Given the description of an element on the screen output the (x, y) to click on. 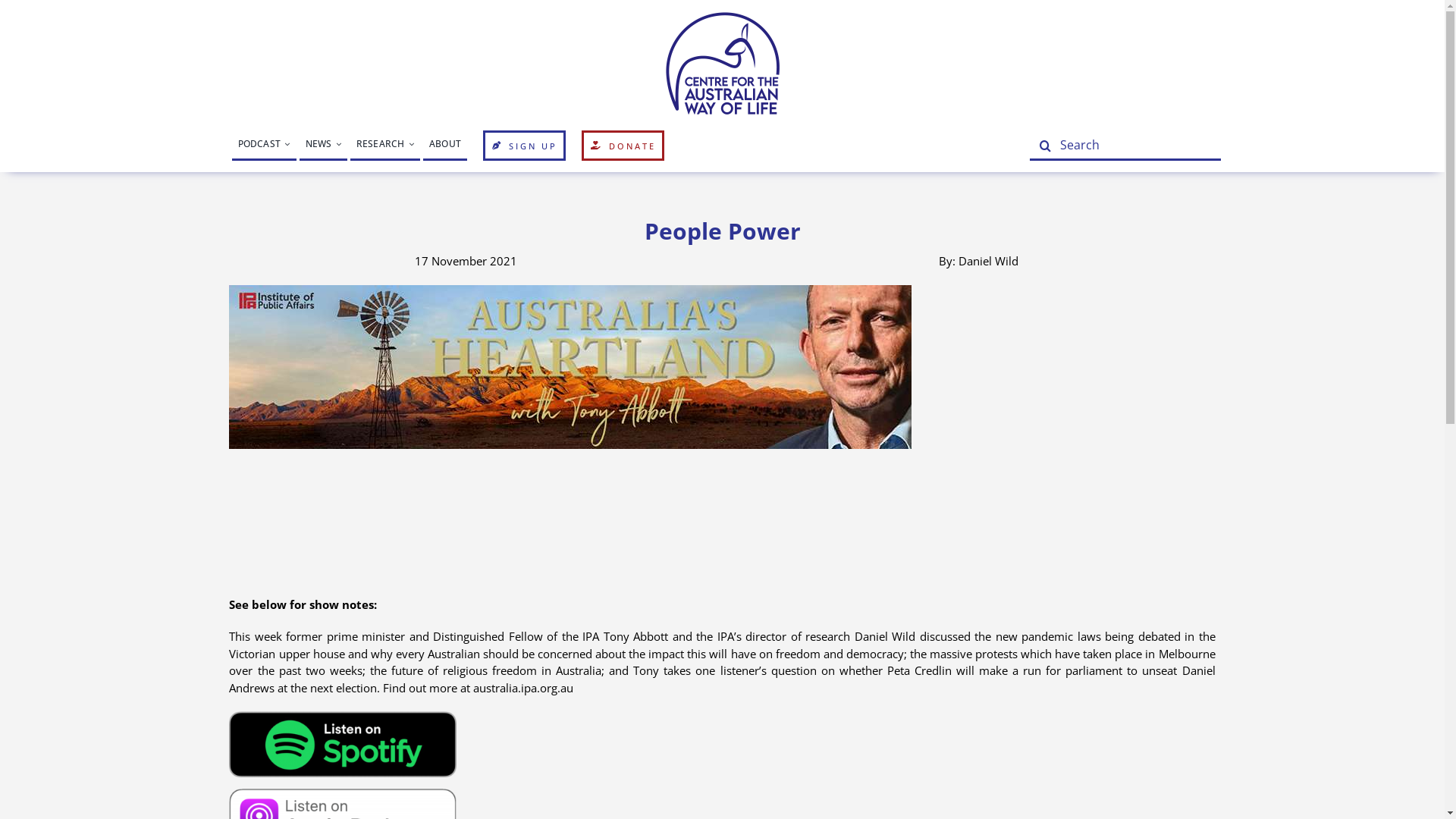
soundcloud Element type: hover (721, 511)
NEWS Element type: text (323, 145)
SIGN UP Element type: text (524, 145)
ABOUT Element type: text (445, 145)
DONATE Element type: text (622, 145)
PODCAST Element type: text (264, 145)
RESEARCH Element type: text (385, 145)
